Given the description of an element on the screen output the (x, y) to click on. 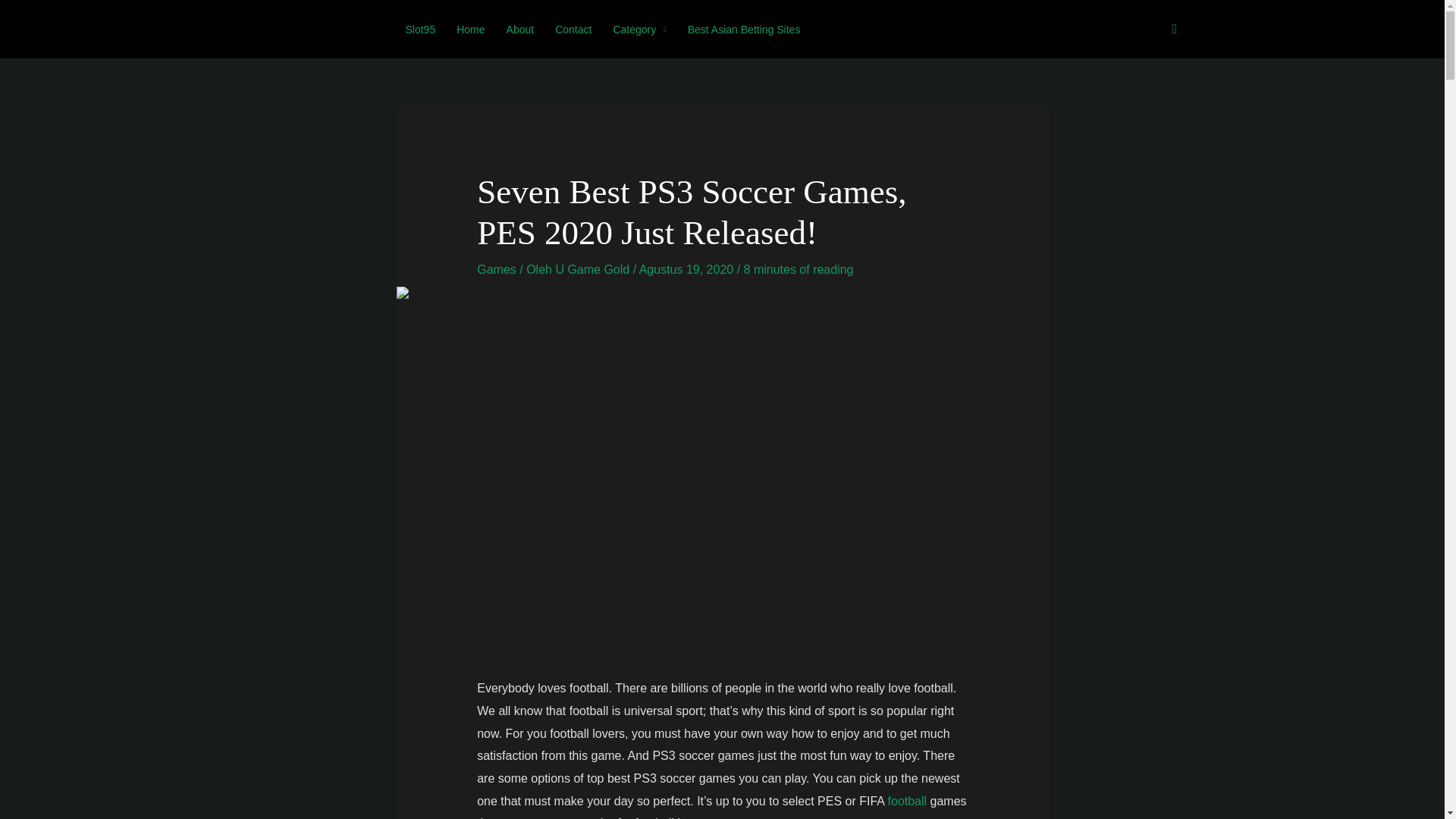
U Game Gold (592, 269)
Slot95 (419, 29)
Home (470, 29)
Category (639, 29)
Contact (573, 29)
football (907, 800)
Best Asian Betting Sites (743, 29)
Games (496, 269)
Cari (1174, 28)
Lihat seluruh tulisan oleh U Game Gold (592, 269)
About (520, 29)
